Given the description of an element on the screen output the (x, y) to click on. 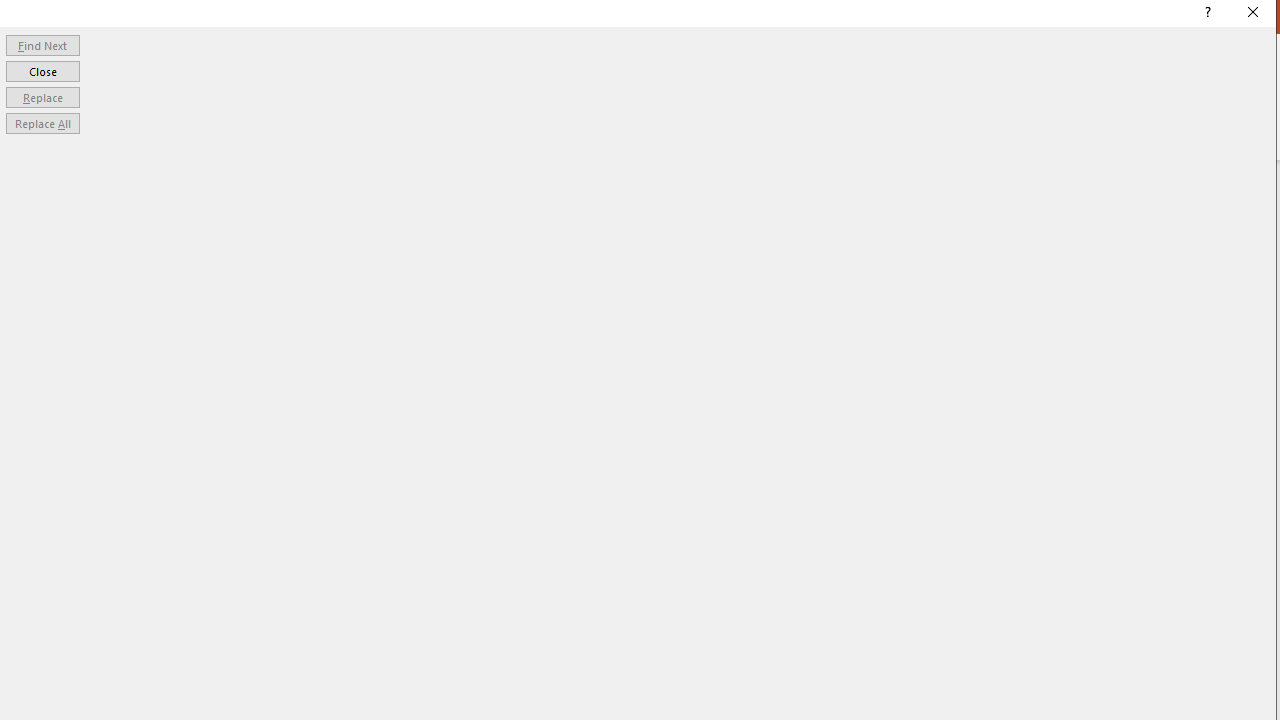
Replace All (42, 123)
Replace (42, 96)
Context help (1206, 14)
Find Next (42, 44)
